Given the description of an element on the screen output the (x, y) to click on. 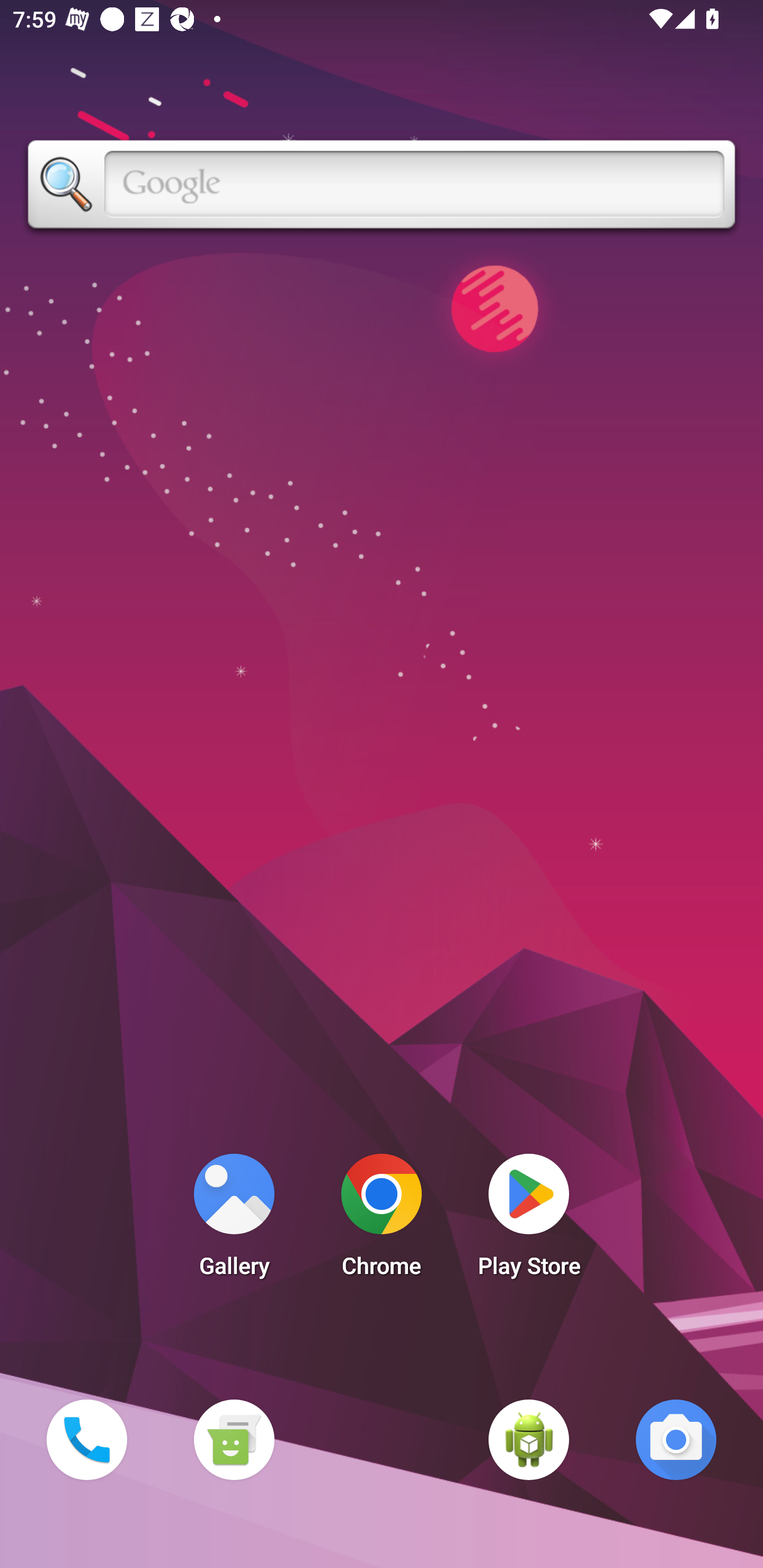
Gallery (233, 1220)
Chrome (381, 1220)
Play Store (528, 1220)
Phone (86, 1439)
Messaging (233, 1439)
WebView Browser Tester (528, 1439)
Camera (676, 1439)
